Given the description of an element on the screen output the (x, y) to click on. 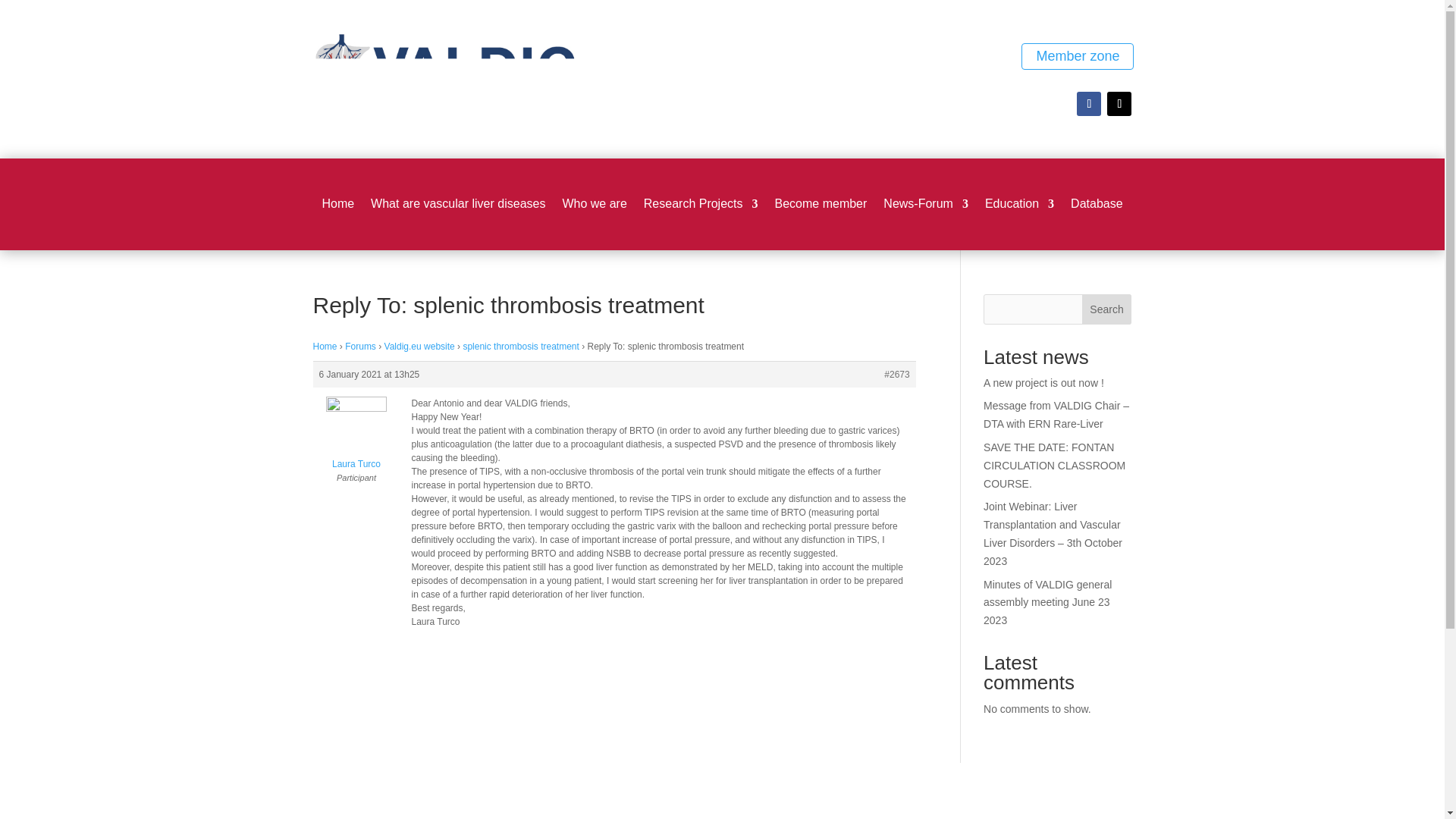
Who we are (594, 207)
Follow on Facebook (1088, 103)
Search (1106, 309)
Laura Turco (355, 436)
A new project is out now ! (1043, 382)
Follow on X (1118, 103)
What are vascular liver diseases (457, 207)
splenic thrombosis treatment (520, 346)
SAVE THE DATE: FONTAN CIRCULATION CLASSROOM COURSE. (1054, 465)
Education (1019, 207)
